Given the description of an element on the screen output the (x, y) to click on. 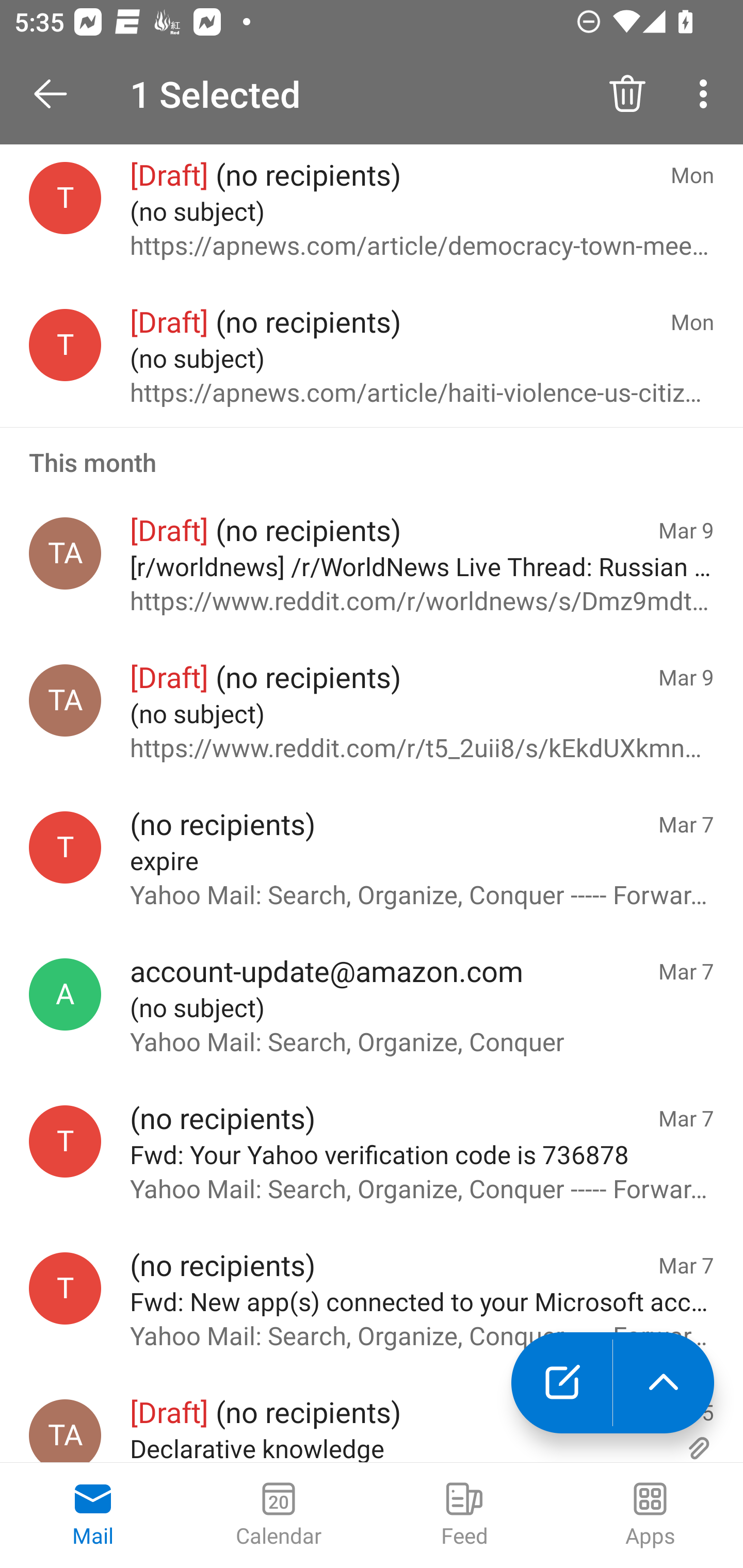
Delete (626, 93)
More options (706, 93)
Open Navigation Drawer (57, 94)
testappium002@outlook.com (64, 197)
testappium002@outlook.com (64, 344)
Test Appium, testappium002@outlook.com (64, 553)
Test Appium, testappium002@outlook.com (64, 700)
testappium002@outlook.com (64, 846)
testappium002@outlook.com (64, 1141)
testappium002@outlook.com (64, 1288)
New mail (561, 1382)
launch the extended action menu (663, 1382)
Test Appium, testappium002@outlook.com (64, 1430)
Calendar (278, 1515)
Feed (464, 1515)
Apps (650, 1515)
